Given the description of an element on the screen output the (x, y) to click on. 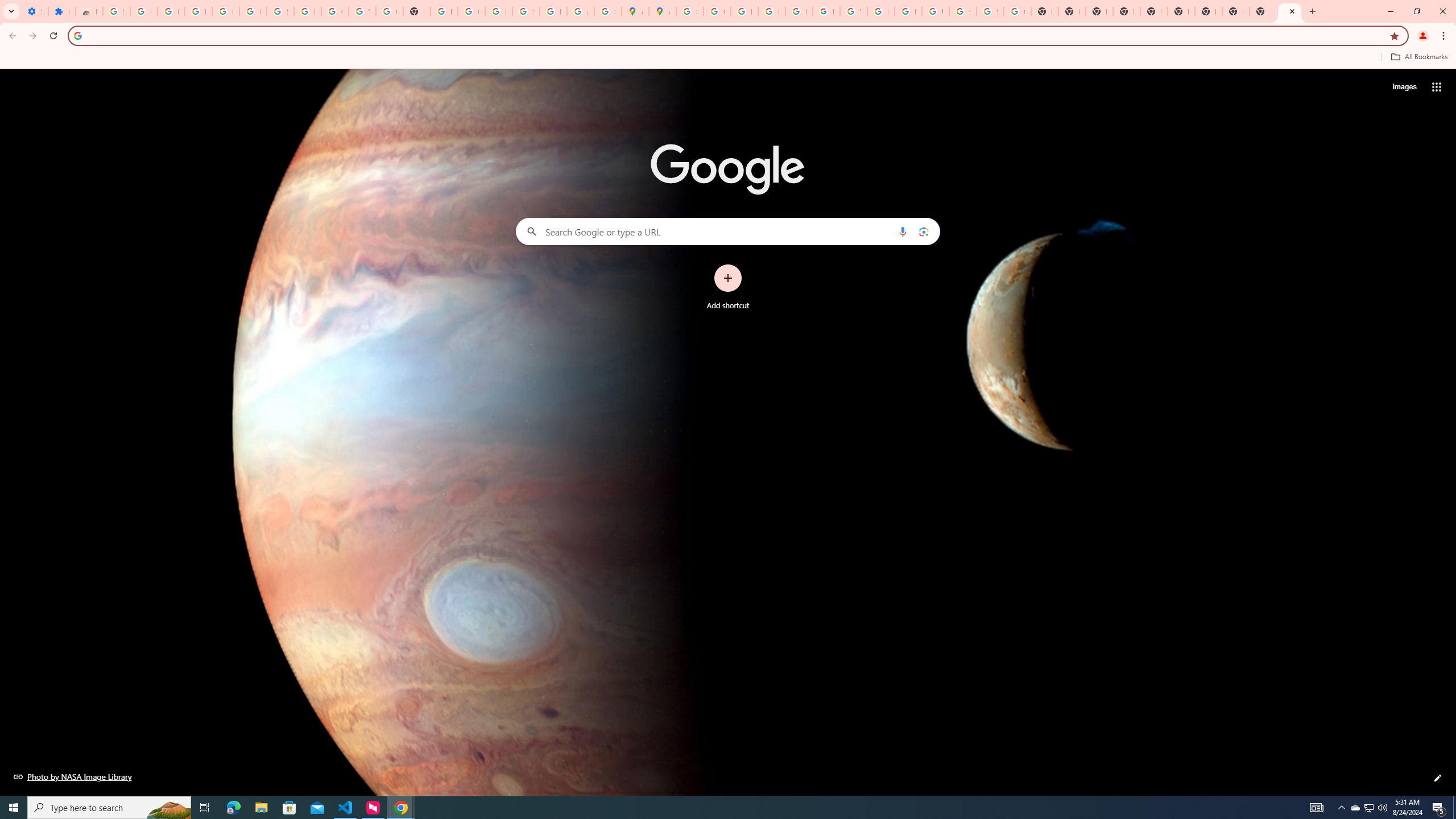
Settings - On startup (34, 11)
Privacy Help Center - Policies Help (771, 11)
Search Google or type a URL (727, 230)
New Tab (1126, 11)
https://scholar.google.com/ (444, 11)
New Tab (1289, 11)
YouTube (853, 11)
